Given the description of an element on the screen output the (x, y) to click on. 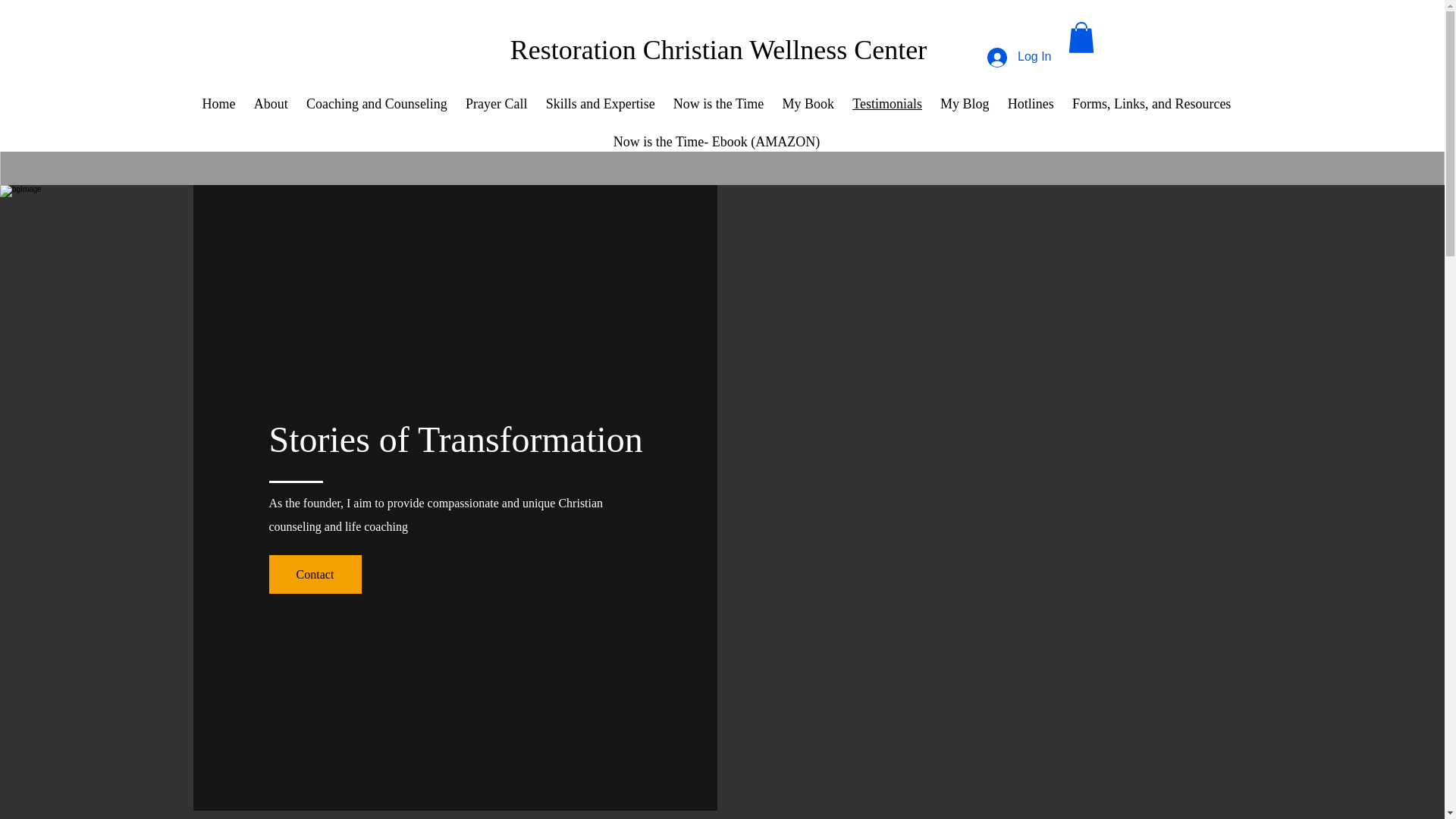
Now is the Time (718, 103)
About (270, 103)
Log In (1018, 57)
Contact (314, 574)
My Book (808, 103)
Home (218, 103)
Prayer Call (497, 103)
Coaching and Counseling (377, 103)
My Blog (964, 103)
Skills and Expertise (600, 103)
Hotlines (1030, 103)
Testimonials (887, 103)
Forms, Links, and Resources (1151, 103)
